Given the description of an element on the screen output the (x, y) to click on. 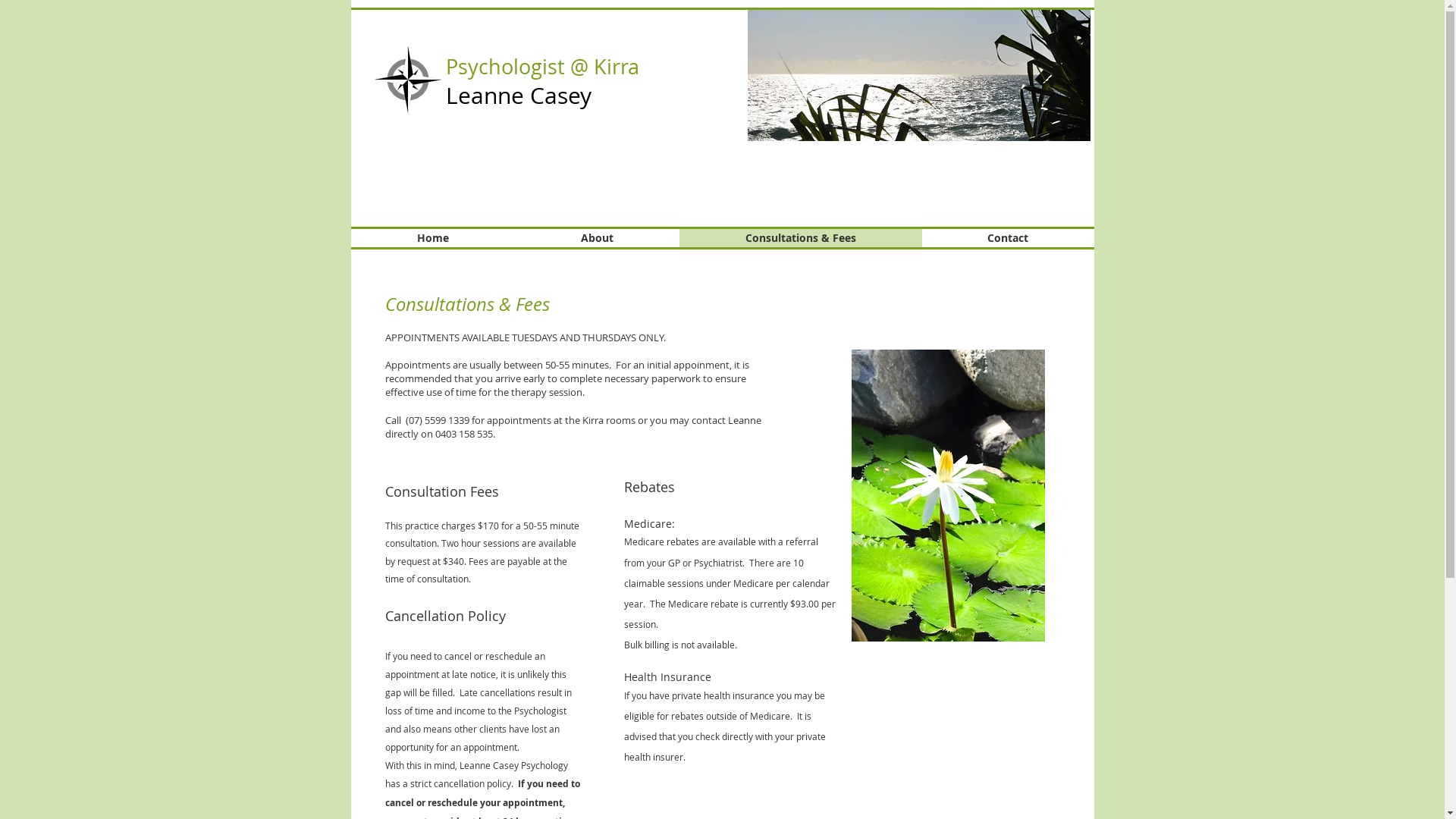
compass_rose-1979px.png Element type: hover (407, 79)
Home Element type: text (432, 238)
Consultations & Fees Element type: text (800, 238)
Contact Element type: text (1008, 238)
DSC_0092 - Version 2.JPG Element type: hover (947, 495)
About Element type: text (596, 238)
